Given the description of an element on the screen output the (x, y) to click on. 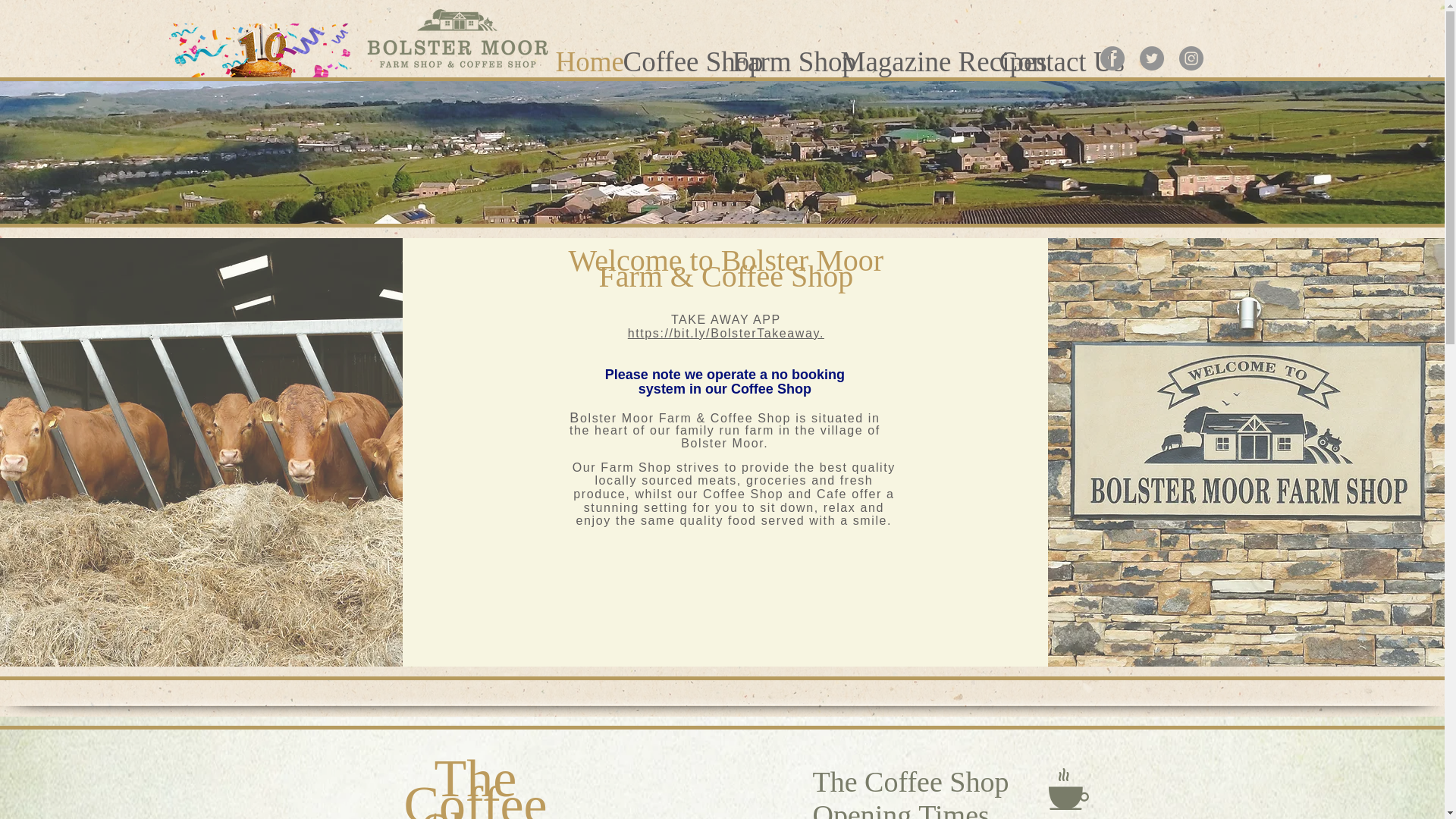
Magazine Recipes (911, 55)
Coffee Shop (670, 55)
Farm Shop (778, 55)
Contact Us (1042, 55)
Home (580, 55)
The Coffee Shop (475, 783)
